Given the description of an element on the screen output the (x, y) to click on. 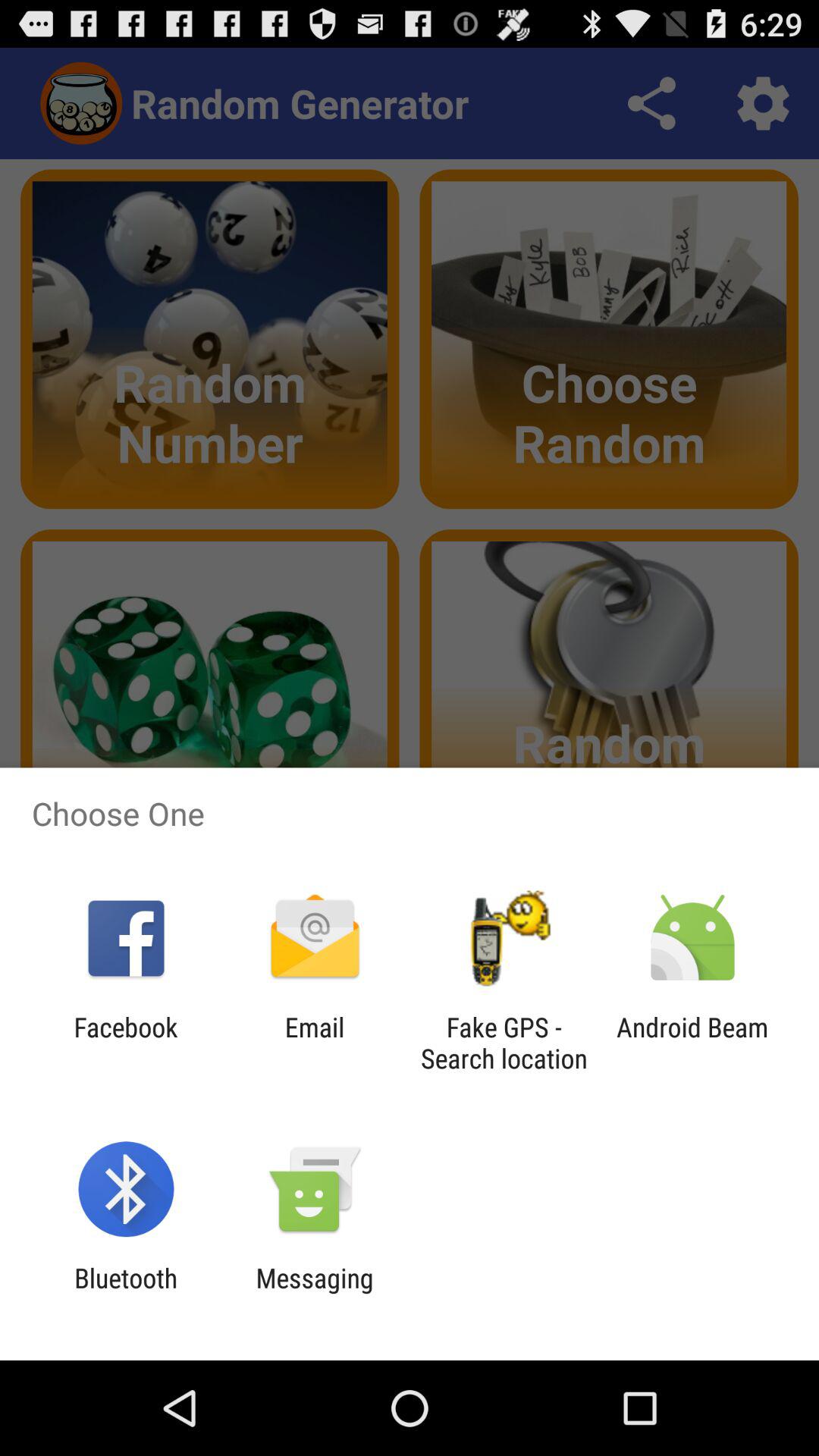
open item next to email icon (503, 1042)
